Given the description of an element on the screen output the (x, y) to click on. 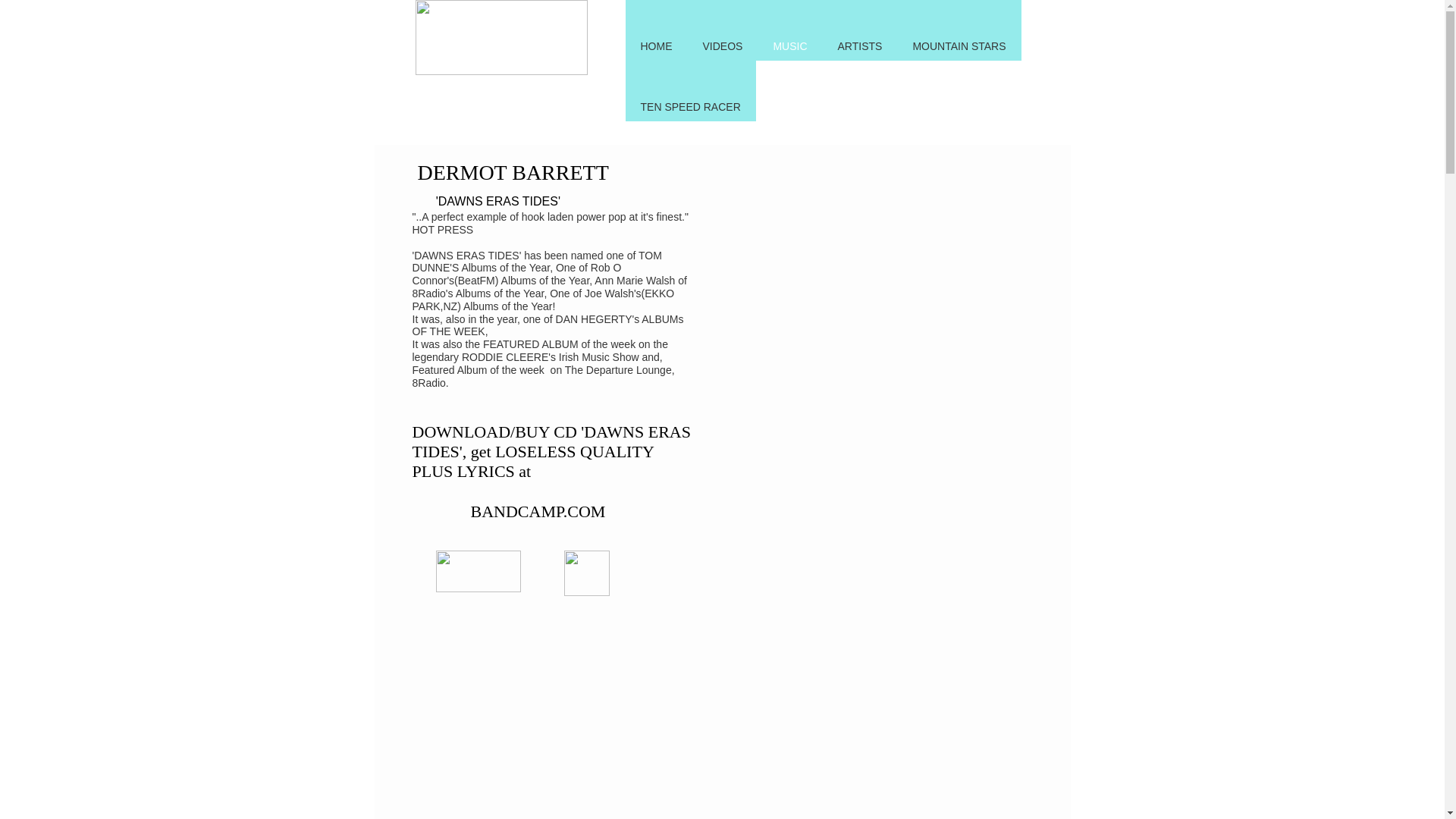
MUSIC (789, 30)
ARTISTS (860, 30)
HOME (655, 30)
MOUNTAIN STARS (958, 30)
BANDCAMP.COM (537, 511)
VIDEOS (722, 30)
TEN SPEED RACER (689, 90)
